Given the description of an element on the screen output the (x, y) to click on. 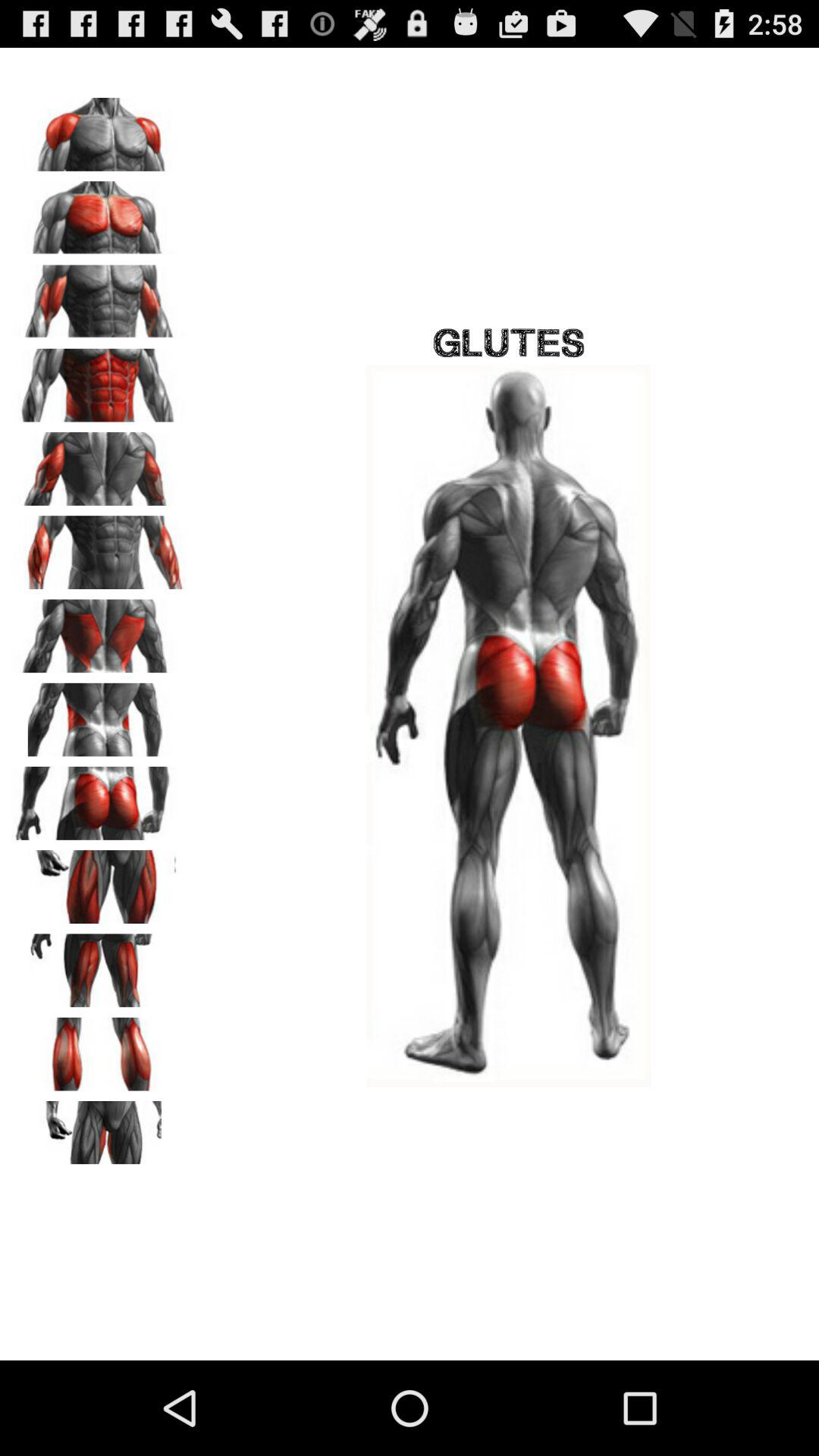
select muscle group (99, 1048)
